Given the description of an element on the screen output the (x, y) to click on. 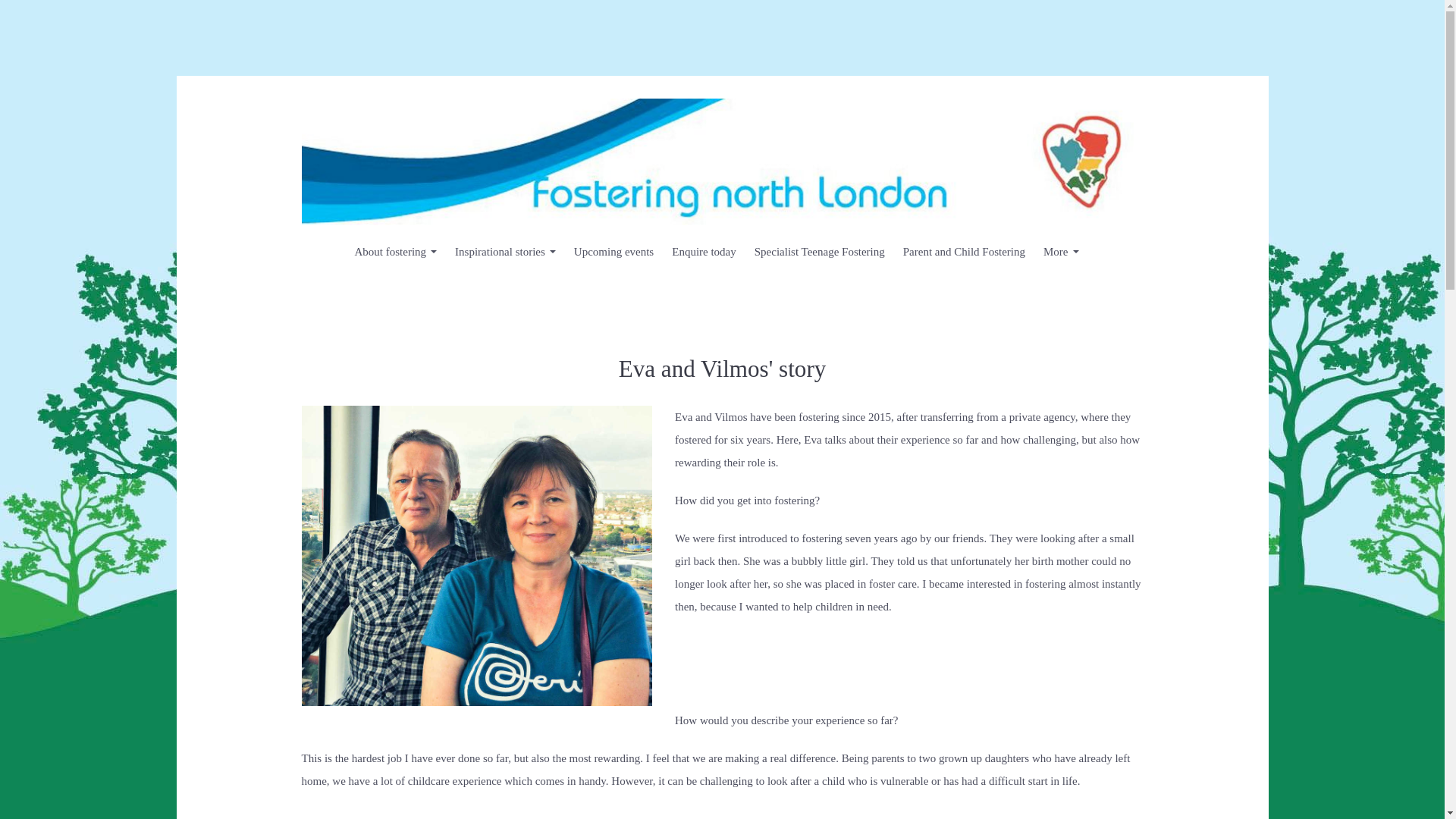
More (1060, 251)
Inspirational stories (504, 251)
About fostering (396, 251)
Enquire today (703, 251)
Parent and Child Fostering (963, 251)
Upcoming events (613, 251)
Specialist Teenage Fostering (819, 251)
